Given the description of an element on the screen output the (x, y) to click on. 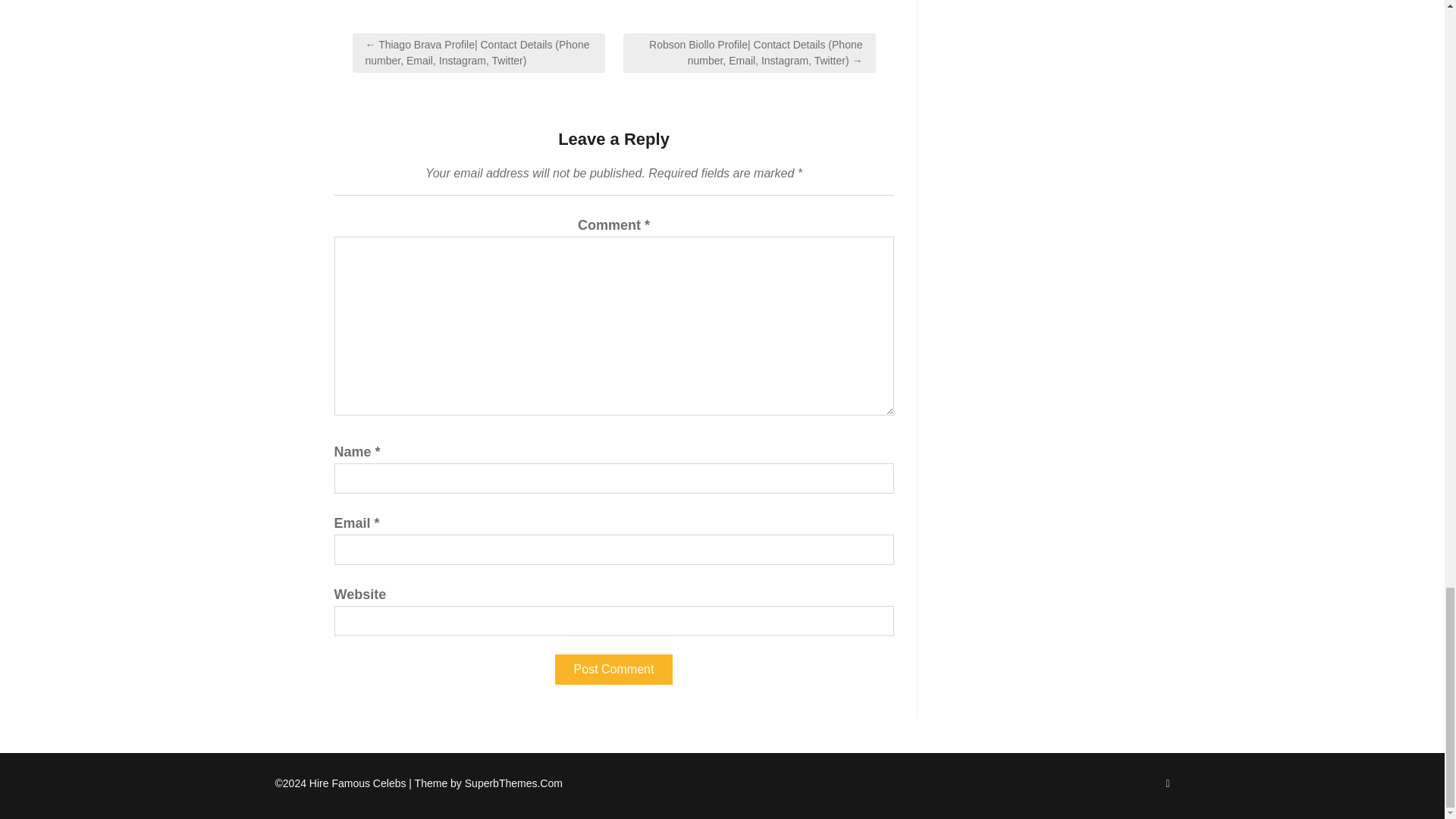
Post Comment (613, 669)
SuperbThemes.Com (513, 783)
Post Comment (613, 669)
